Given the description of an element on the screen output the (x, y) to click on. 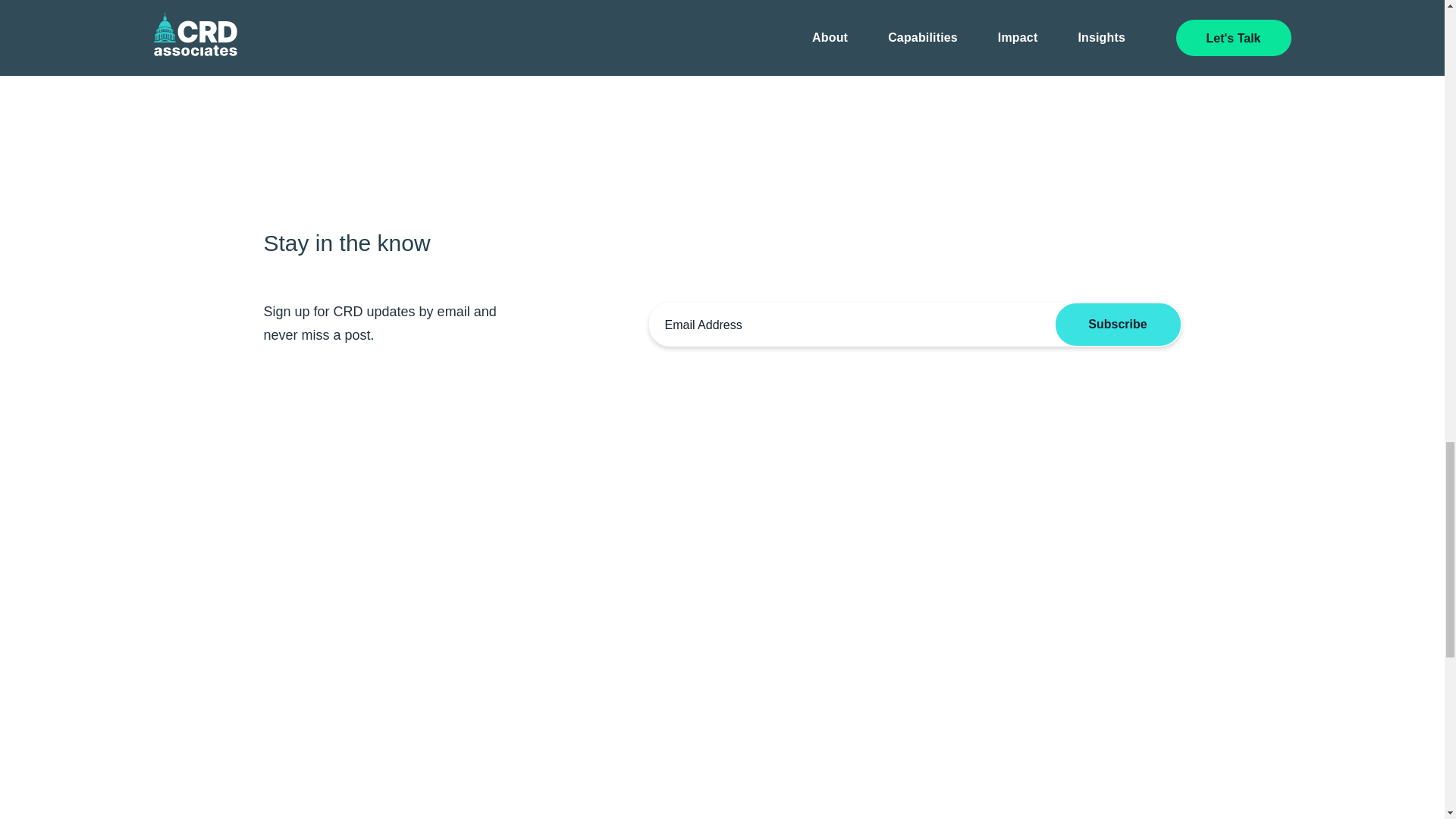
Next Post (978, 51)
Previous Post (478, 51)
Subscribe (1117, 324)
Subscribe (1117, 324)
